Given the description of an element on the screen output the (x, y) to click on. 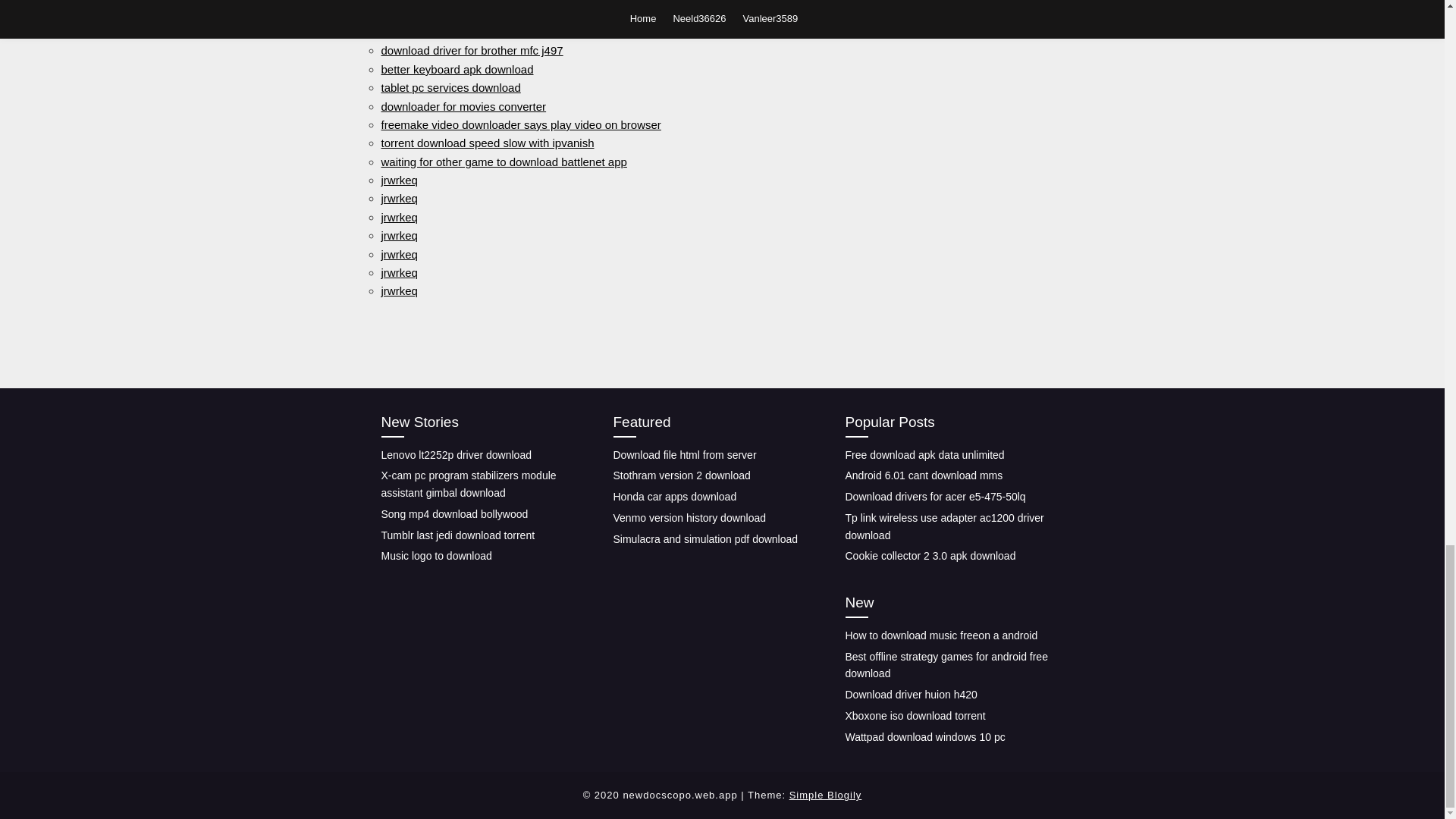
jrwrkeq (398, 254)
Tumblr last jedi download torrent (457, 534)
Download file html from server (683, 453)
waiting for other game to download battlenet app (503, 161)
download driver for brother mfc j497 (471, 50)
How to download music freeon a android (940, 635)
tablet pc services download (449, 87)
Cookie collector 2 3.0 apk download (929, 555)
Honda car apps download (674, 496)
Venmo version history download (688, 517)
